Given the description of an element on the screen output the (x, y) to click on. 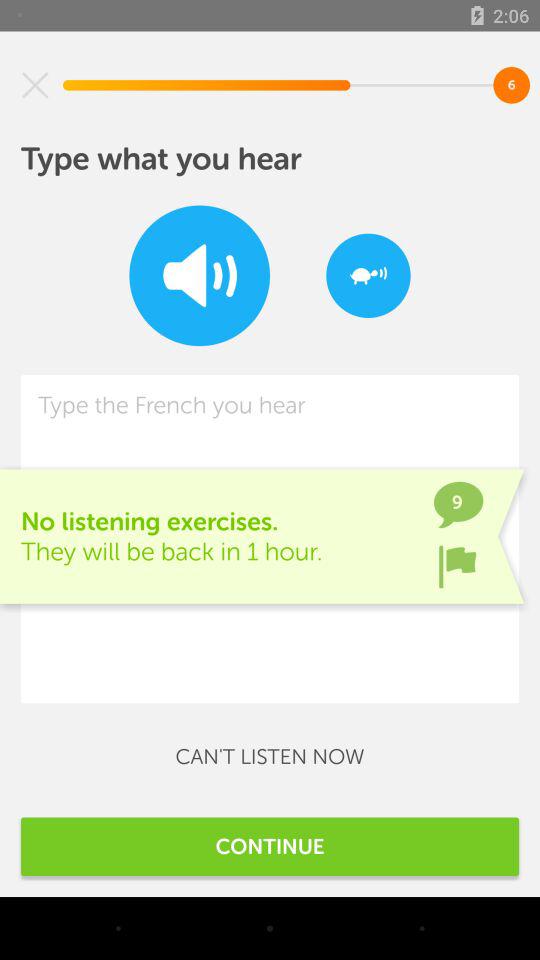
flip until the continue icon (270, 846)
